Given the description of an element on the screen output the (x, y) to click on. 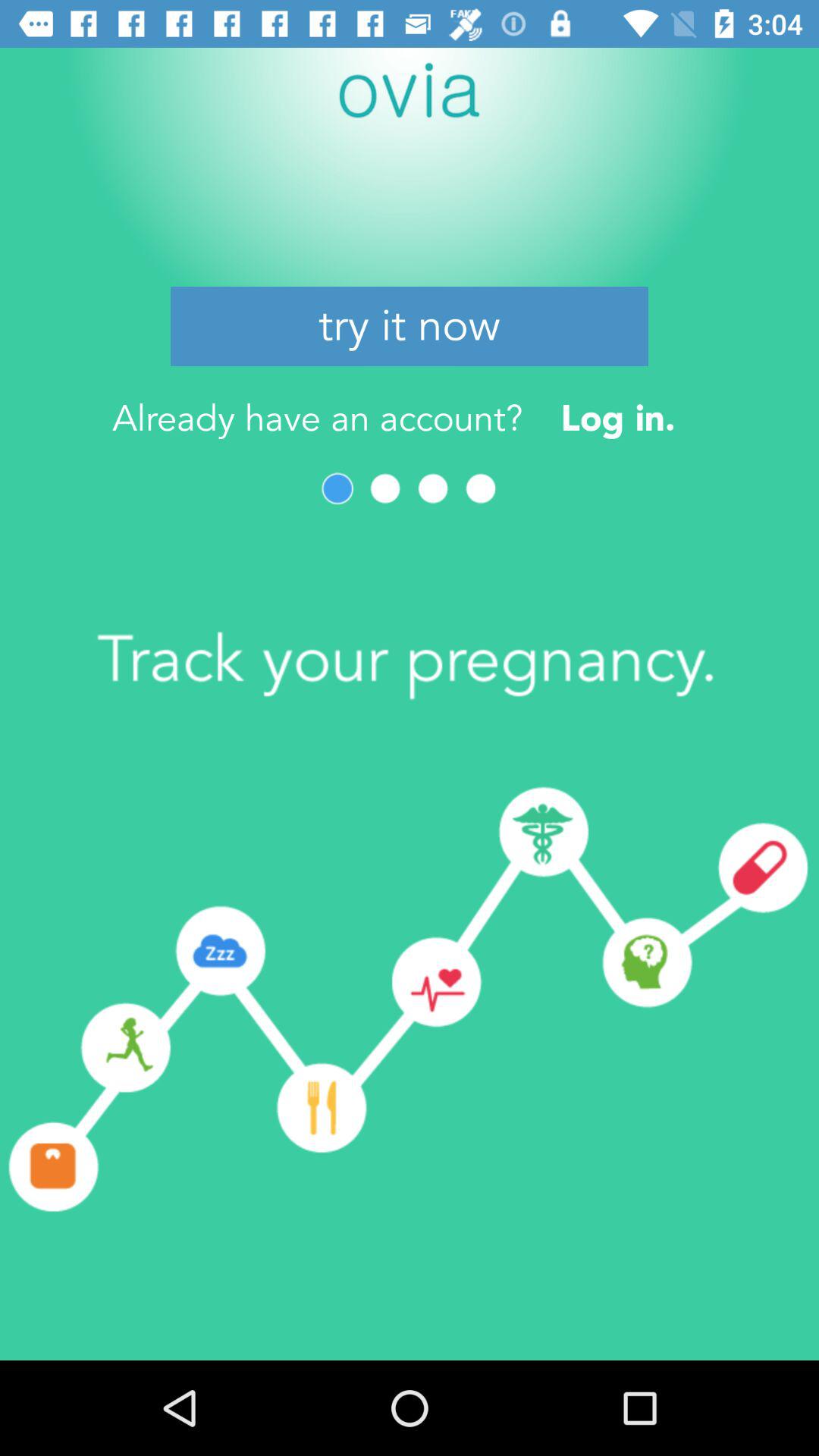
next (481, 488)
